Given the description of an element on the screen output the (x, y) to click on. 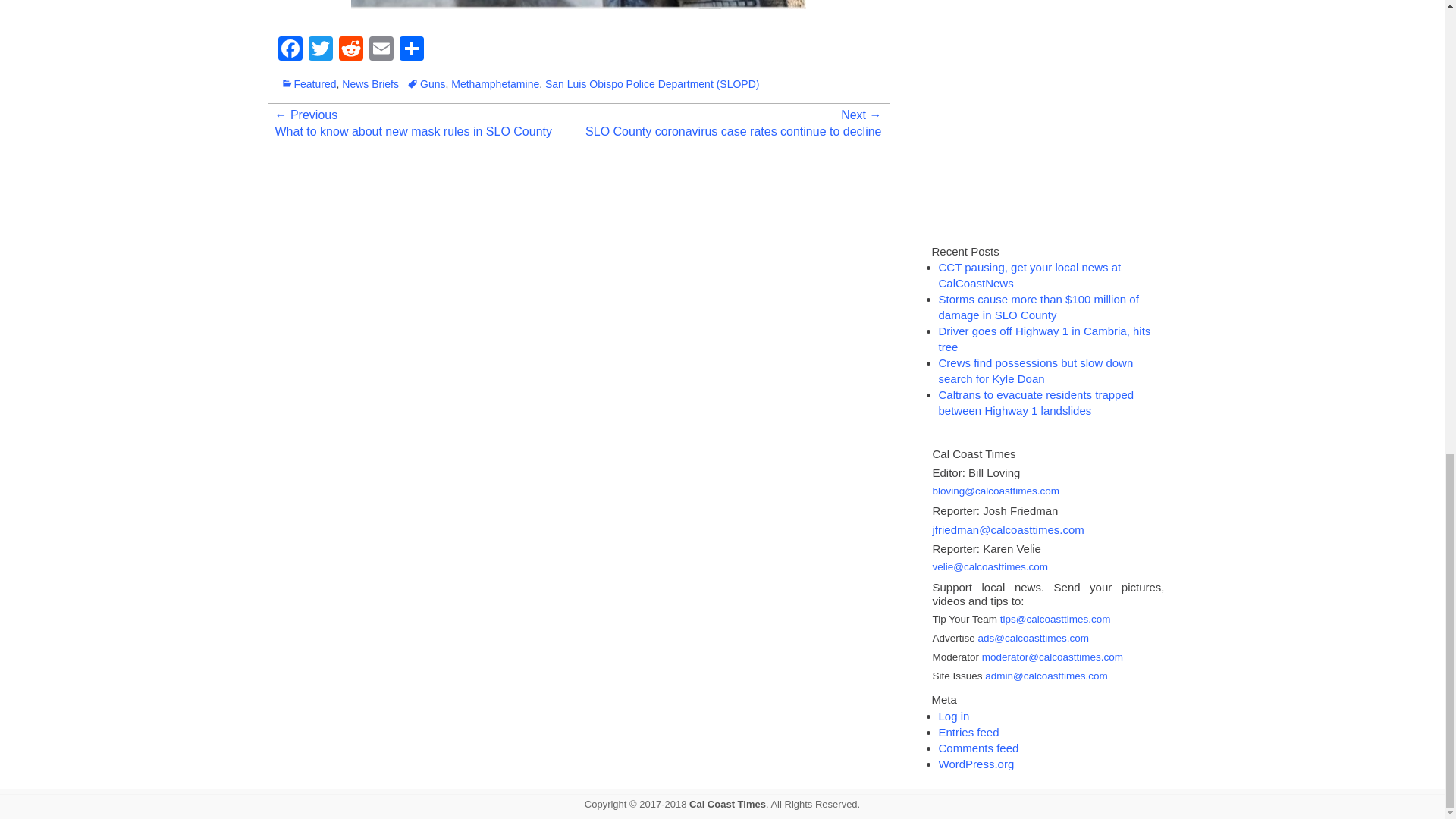
News Briefs (370, 83)
Driver goes off Highway 1 in Cambria, hits tree (1045, 338)
Reddit (349, 50)
Share (411, 50)
Guns (425, 83)
CCT pausing, get your local news at CalCoastNews (1030, 275)
Featured (308, 83)
Email (380, 50)
Facebook (289, 50)
Facebook (289, 50)
Reddit (349, 50)
Crews find possessions but slow down search for Kyle Doan (1036, 370)
Methamphetamine (494, 83)
Twitter (319, 50)
